Given the description of an element on the screen output the (x, y) to click on. 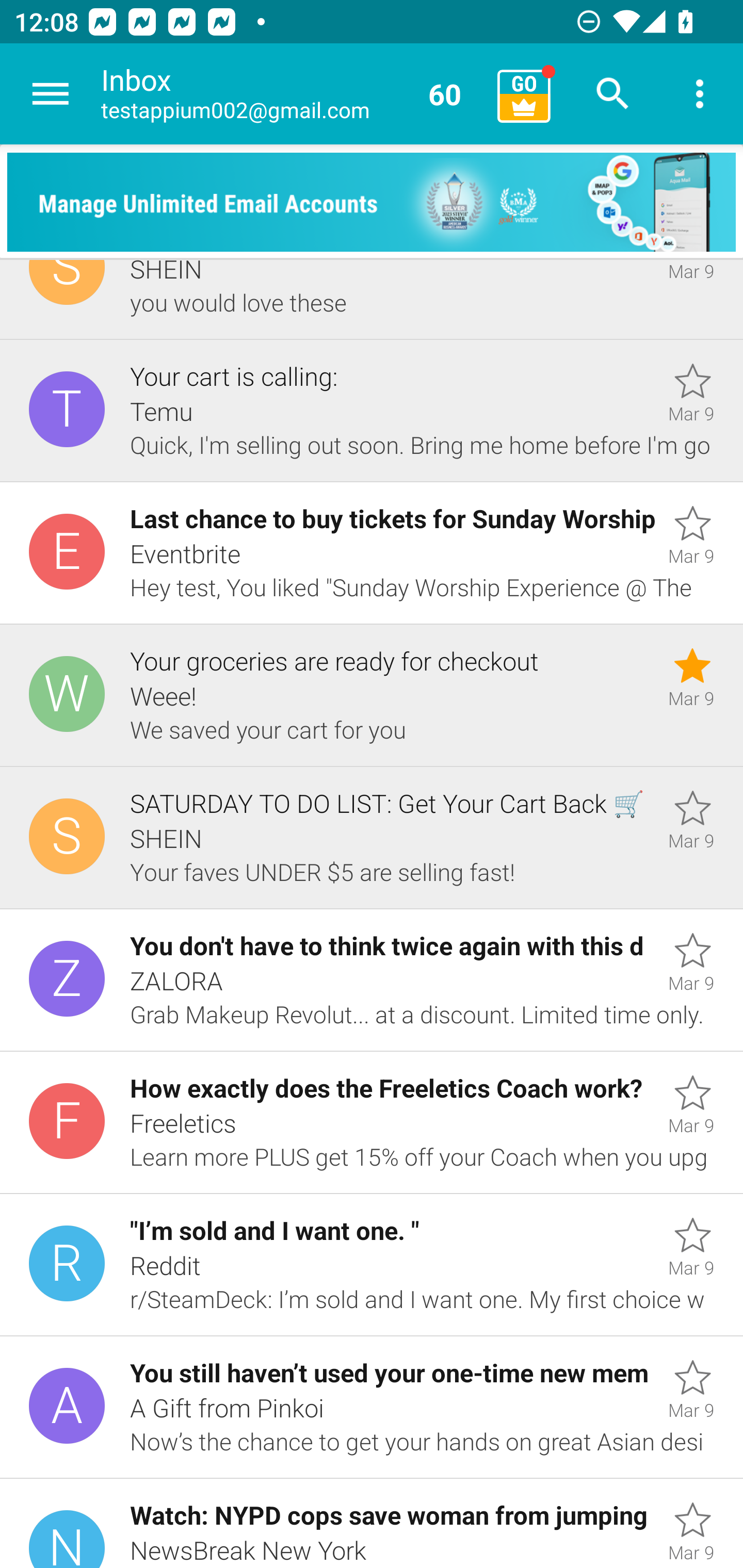
Navigate up (50, 93)
Inbox testappium002@gmail.com 60 (291, 93)
Search (612, 93)
More options (699, 93)
